Given the description of an element on the screen output the (x, y) to click on. 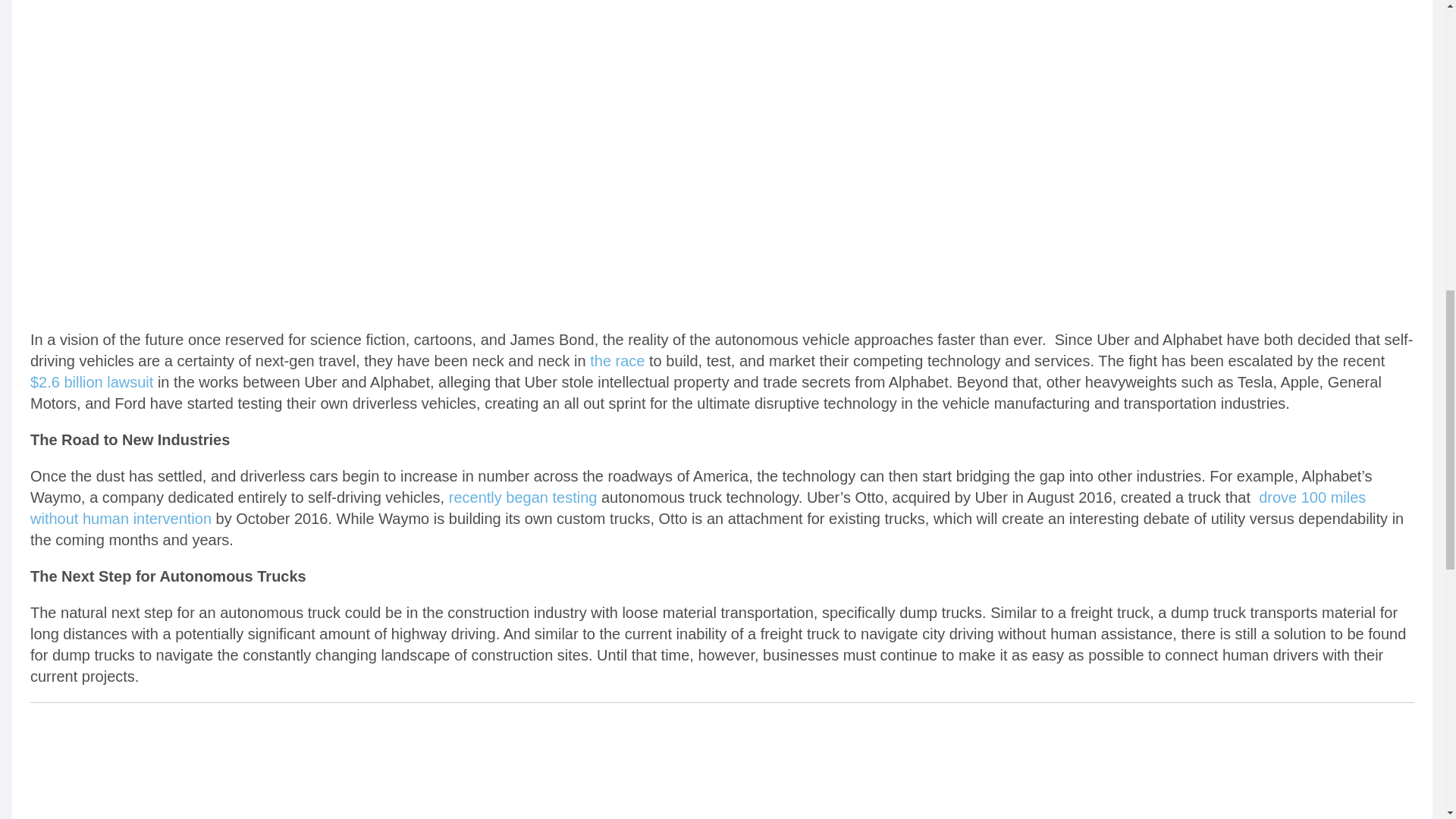
drove 100 miles without human intervention (697, 507)
the race (617, 360)
recently began testing (522, 497)
